Given the description of an element on the screen output the (x, y) to click on. 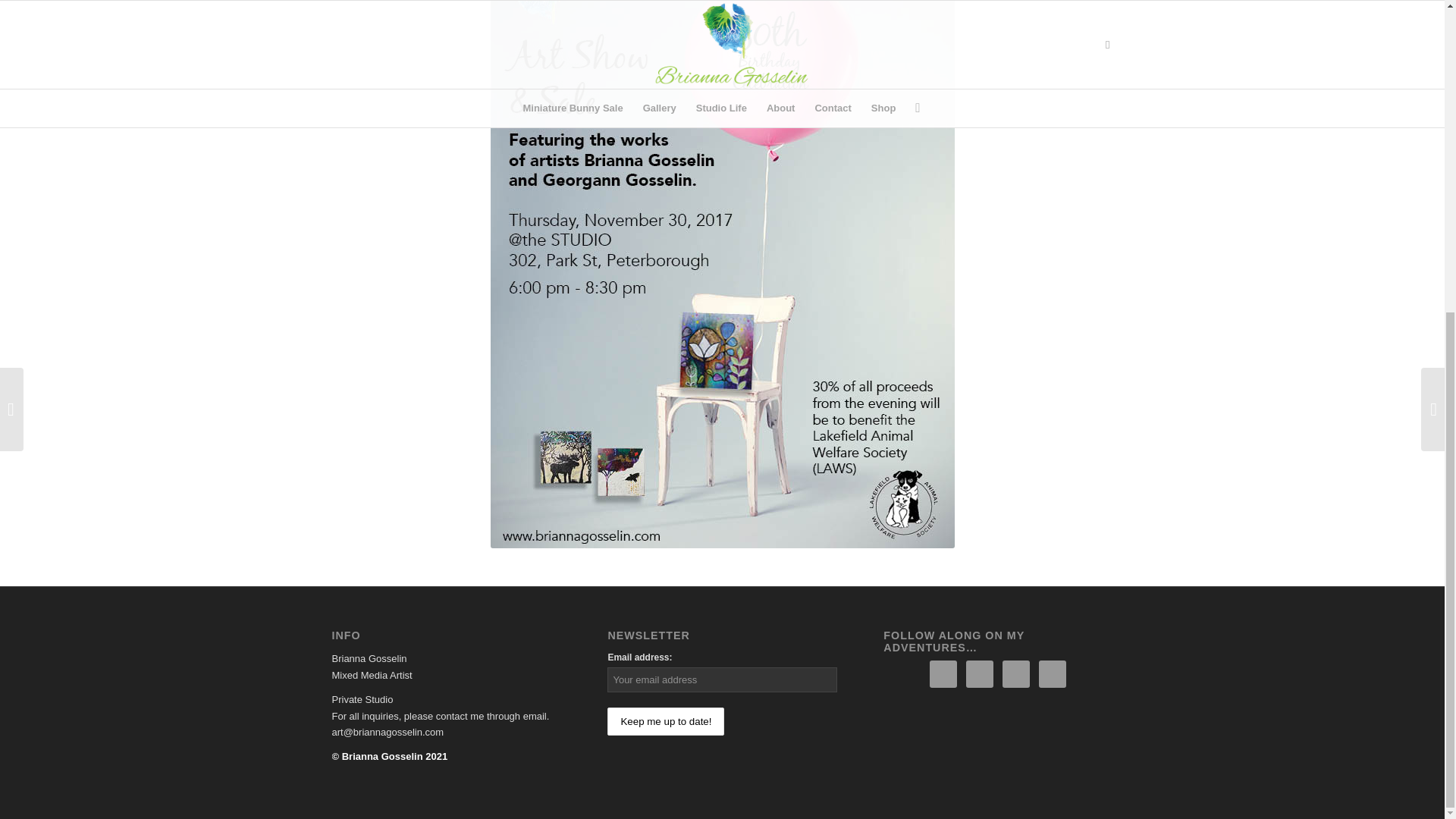
Keep me up to date! (665, 721)
Keep me up to date! (665, 721)
